Given the description of an element on the screen output the (x, y) to click on. 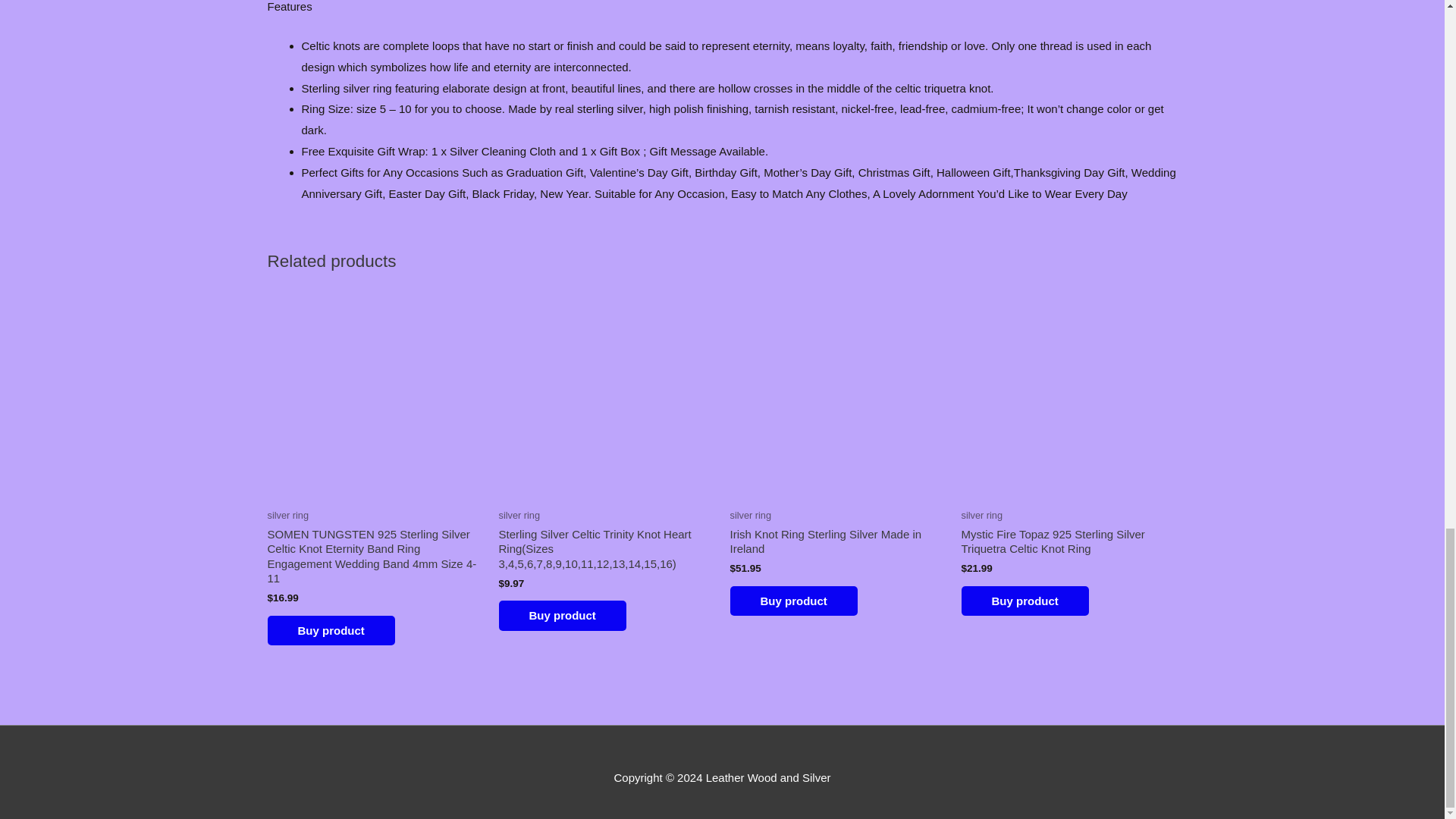
Buy product (1024, 601)
Buy product (330, 630)
Buy product (562, 615)
Buy product (793, 601)
Irish Knot Ring Sterling Silver Made in Ireland (836, 544)
